Given the description of an element on the screen output the (x, y) to click on. 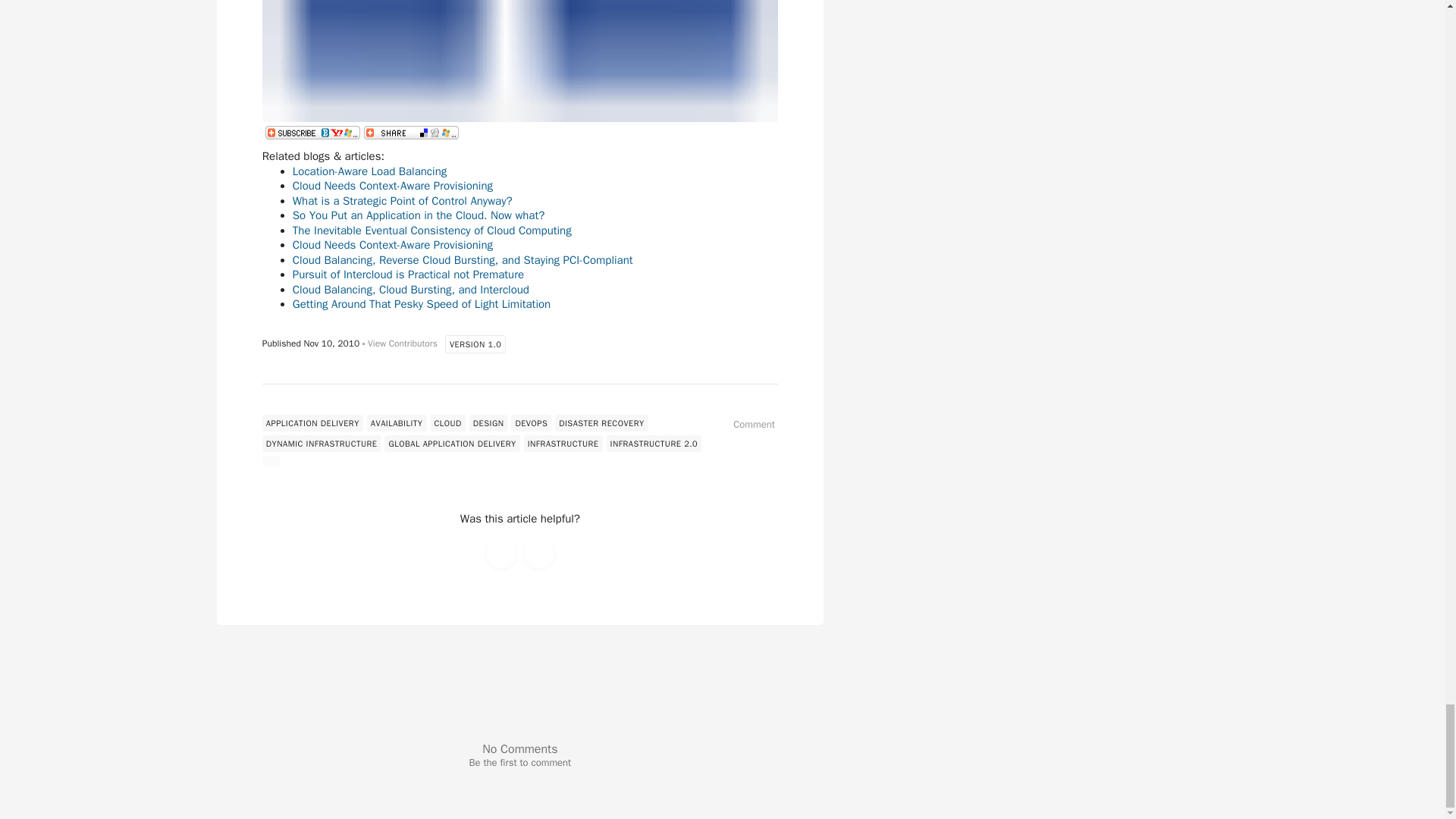
Subscribe using any feed reader! (311, 131)
Cloud Needs Context-Aware Provisioning (392, 185)
Bookmark and Share (411, 131)
Show More (271, 460)
November 10, 2010 at 10:02 AM (330, 343)
Location-Aware Load Balancing (369, 171)
